Given the description of an element on the screen output the (x, y) to click on. 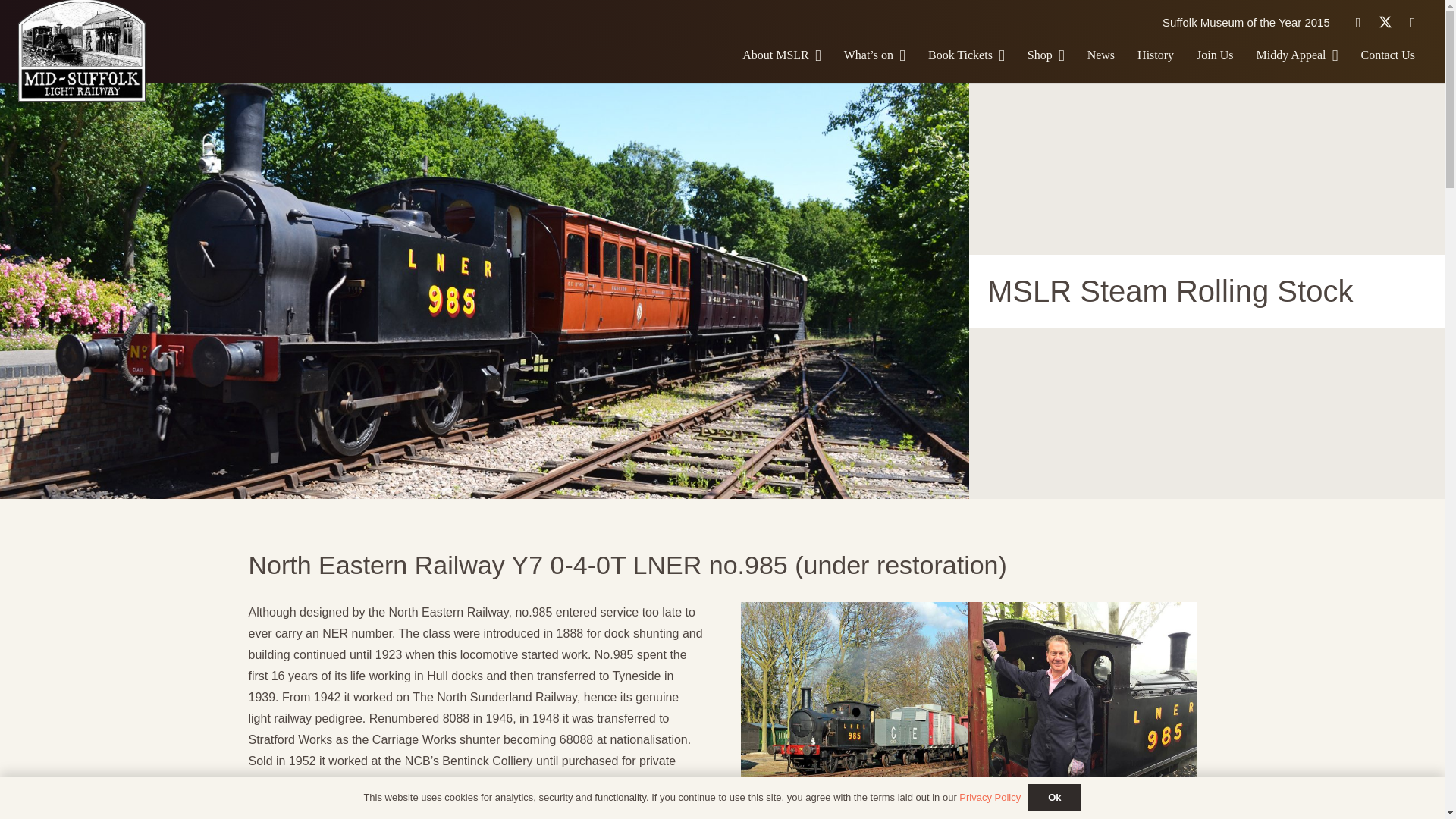
Twitter (1385, 22)
News (1100, 55)
Join Us (1214, 55)
Shop (1045, 55)
History (1155, 55)
The Y7 on a demonstration freight (853, 710)
About MSLR (781, 55)
RSS (1412, 22)
Book Tickets (966, 55)
Facebook (1357, 22)
